Given the description of an element on the screen output the (x, y) to click on. 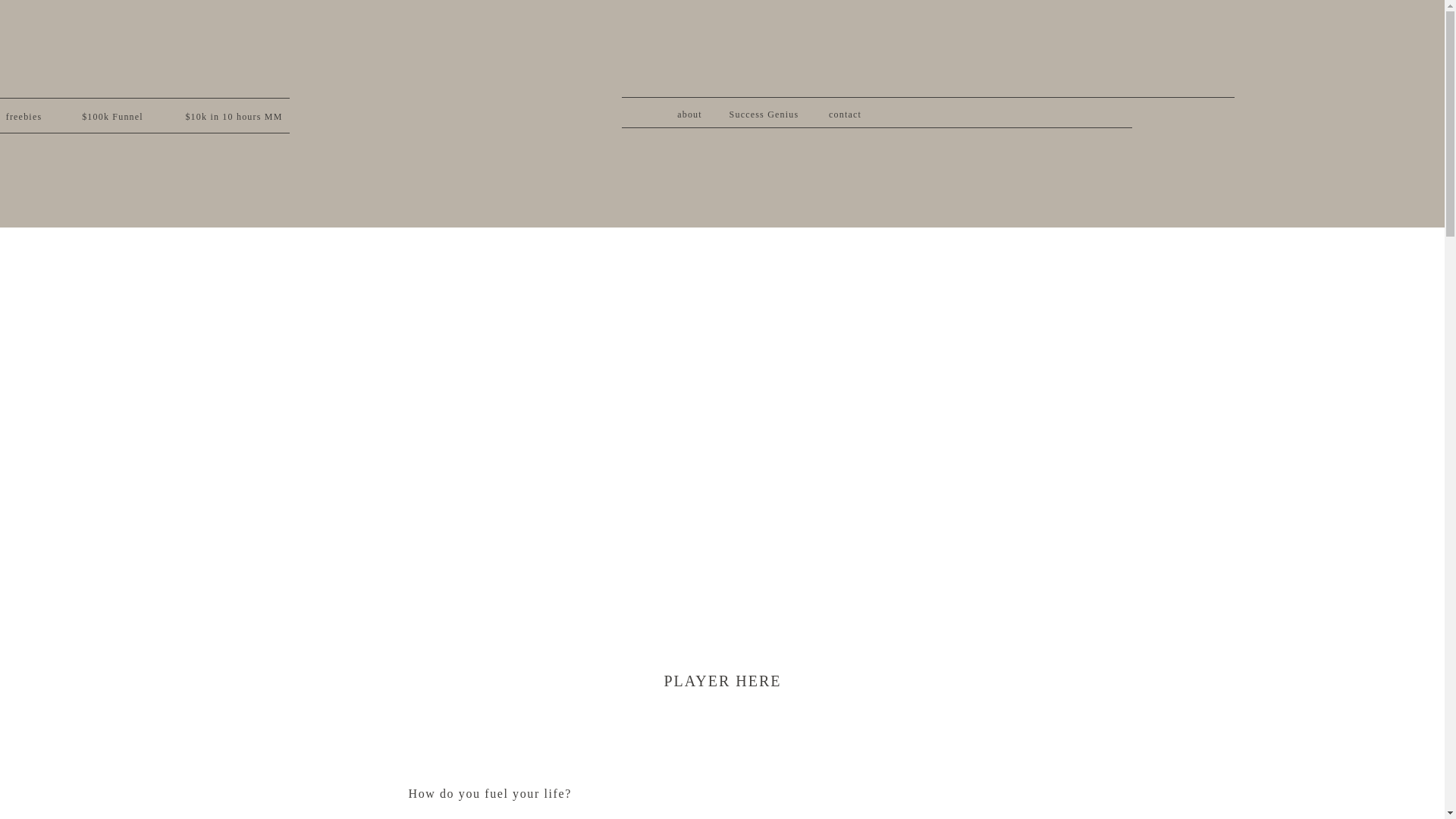
Success Genius (763, 111)
PLAYER HERE (722, 679)
about (689, 111)
contact (845, 111)
freebies (35, 114)
